Given the description of an element on the screen output the (x, y) to click on. 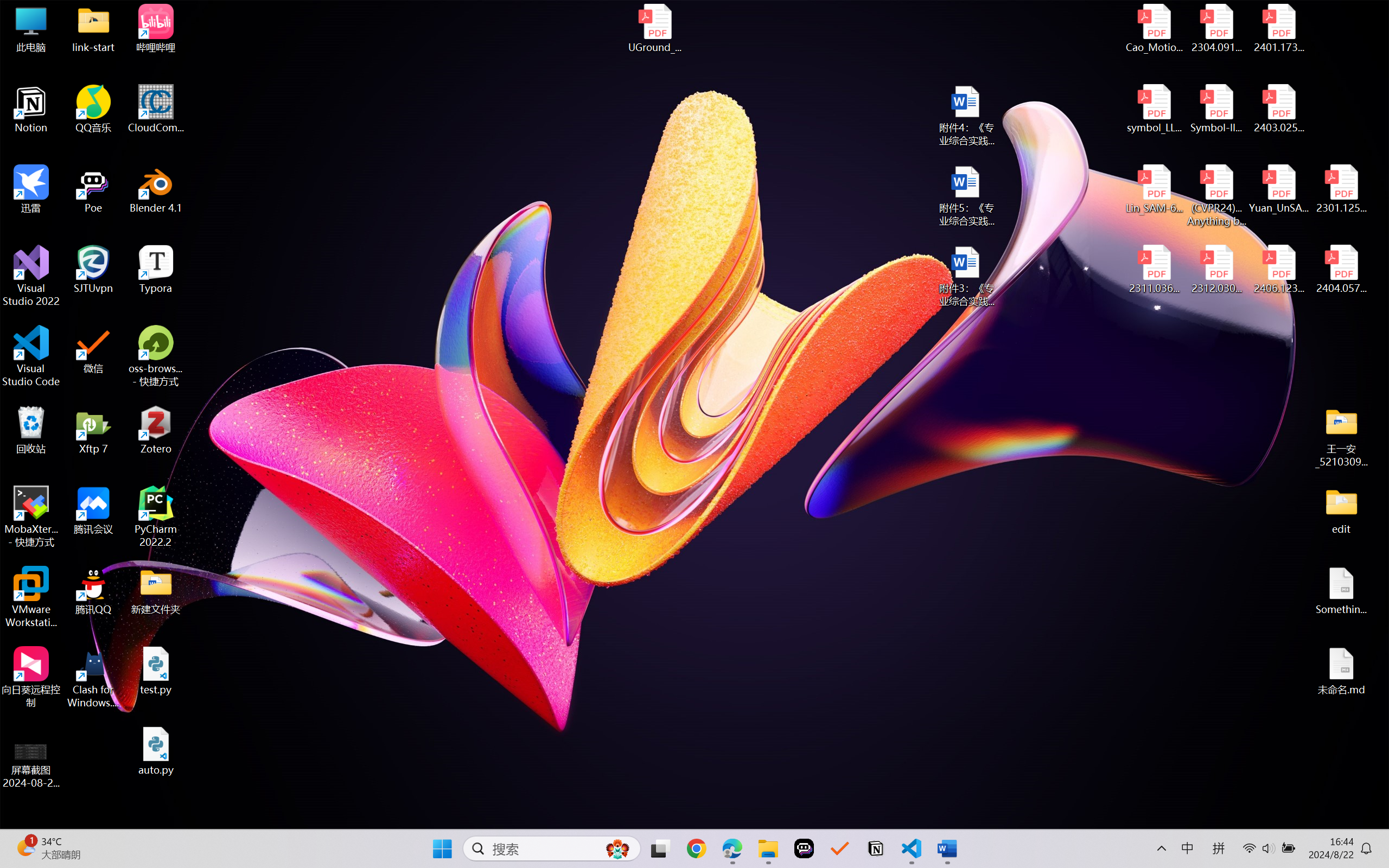
SJTUvpn (93, 269)
2301.12597v3.pdf (1340, 189)
test.py (156, 670)
PyCharm 2022.2 (156, 516)
2403.02502v1.pdf (1278, 109)
CloudCompare (156, 109)
